Given the description of an element on the screen output the (x, y) to click on. 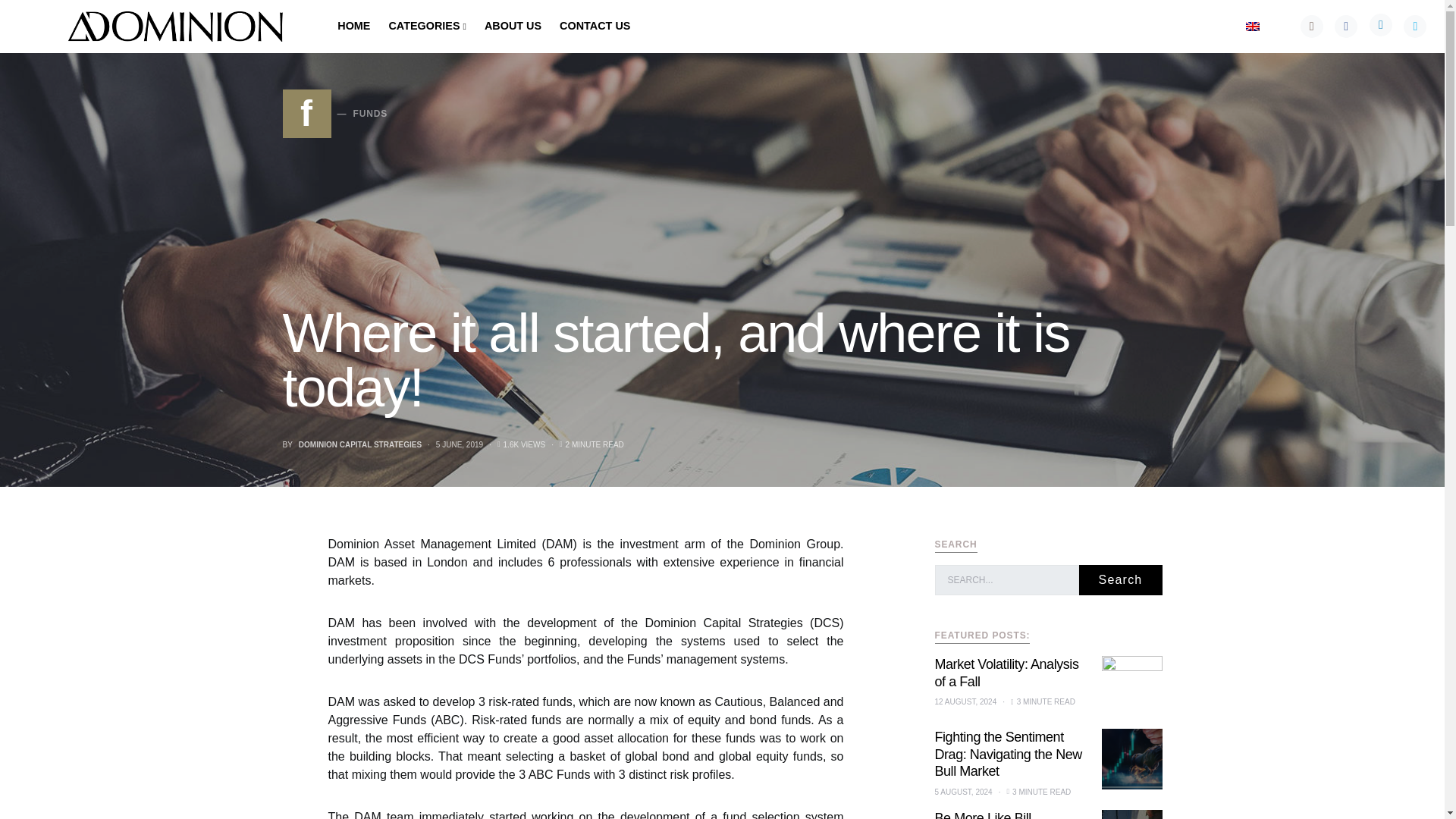
View all posts by Dominion Capital Strategies (360, 443)
English (1252, 26)
CATEGORIES (426, 26)
CONTACT US (590, 26)
DOMINION CAPITAL STRATEGIES (360, 443)
ABOUT US (334, 113)
